Given the description of an element on the screen output the (x, y) to click on. 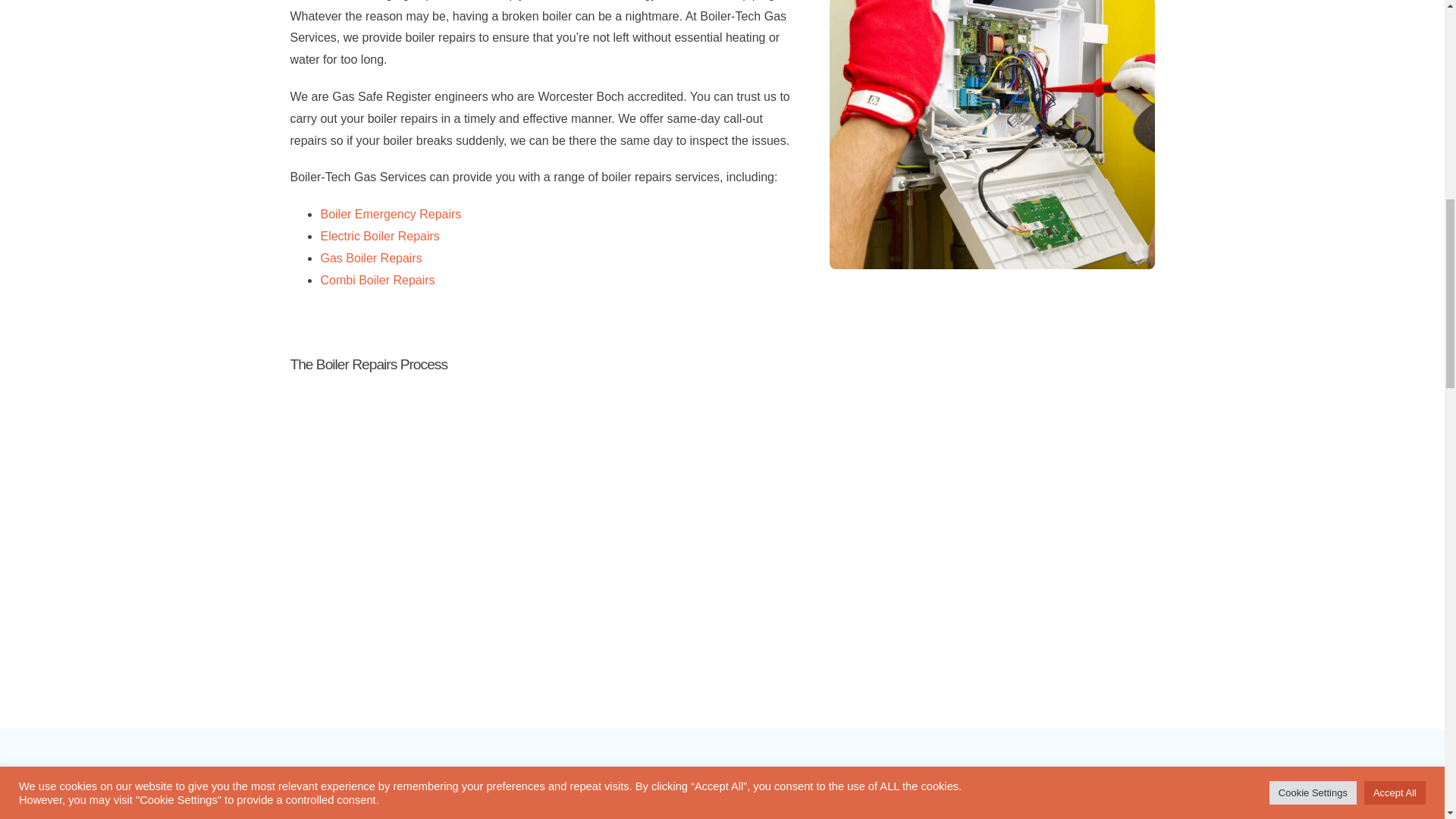
Electric Boiler Repairs (379, 236)
Boiler Emergency Repairs (390, 214)
Gas Boiler Repairs (371, 257)
Boiler Repairs (991, 134)
Combi Boiler Repairs (376, 279)
